Given the description of an element on the screen output the (x, y) to click on. 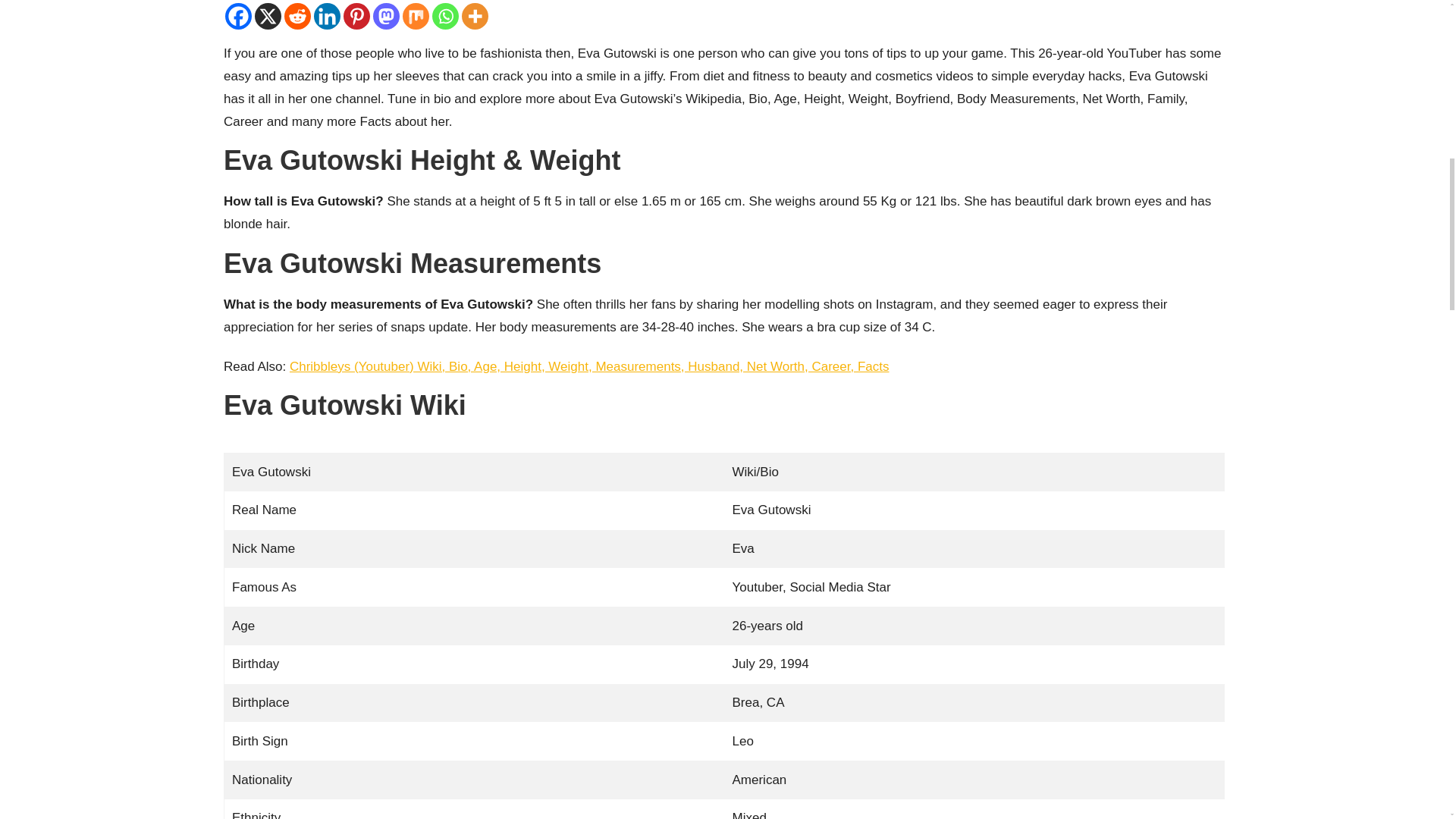
Reddit (297, 16)
Pinterest (356, 16)
Mix (416, 16)
X (267, 16)
More (474, 16)
Whatsapp (445, 16)
Facebook (238, 16)
Mastodon (385, 16)
Linkedin (327, 16)
